Given the description of an element on the screen output the (x, y) to click on. 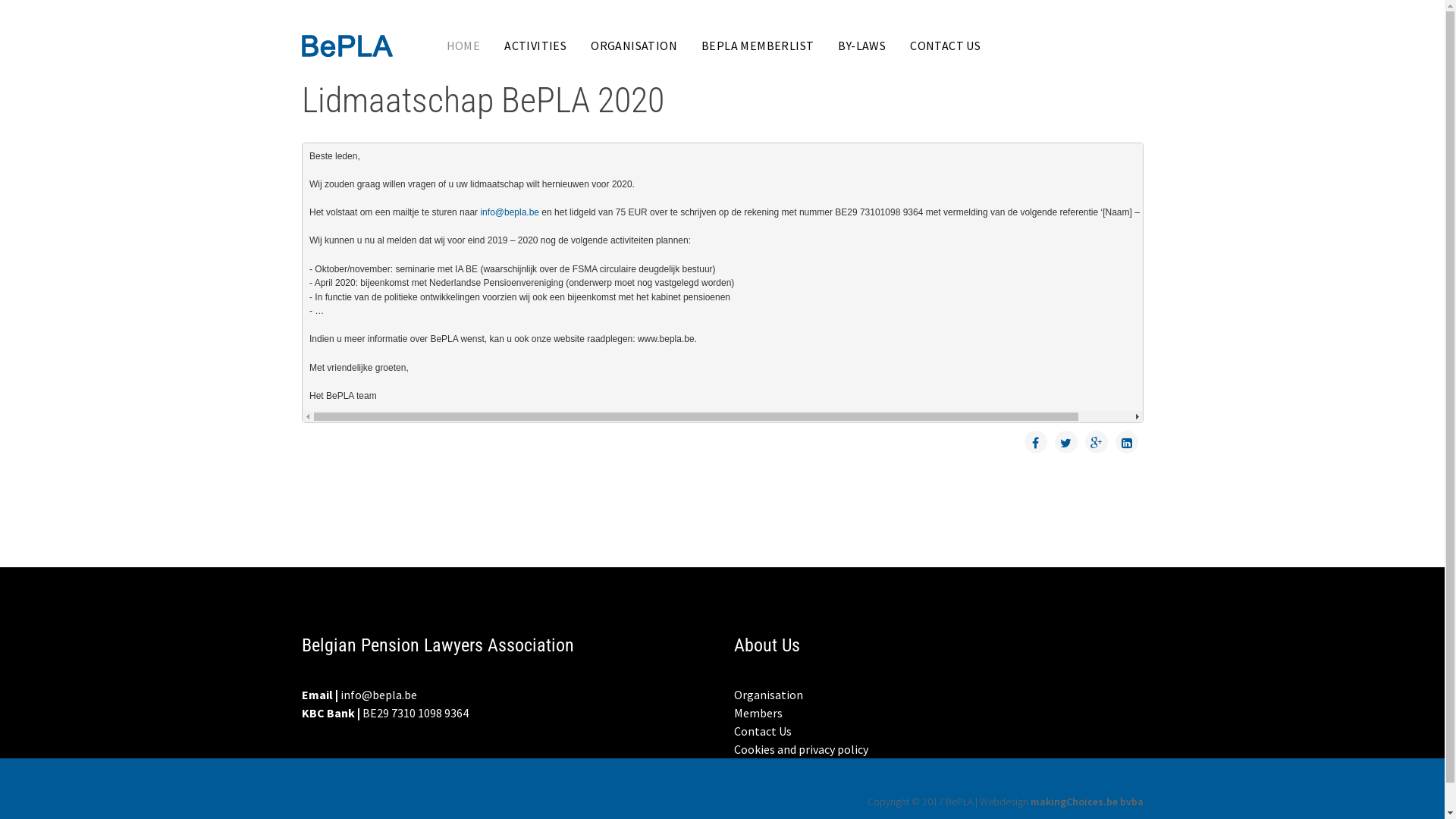
info@bepla.be Element type: text (377, 694)
Share On Linkedin Element type: hover (1125, 441)
Members Element type: text (938, 712)
ORGANISATION Element type: text (633, 45)
Share On Facebook Element type: hover (1034, 441)
Contact Us Element type: text (938, 730)
makingChoices.be bvba Element type: text (1085, 801)
info@bepla.be Element type: text (509, 212)
Share On Twitter Element type: hover (1065, 441)
BEPLA MEMBERLIST Element type: text (757, 45)
Cookies and privacy policy Element type: text (938, 749)
ACTIVITIES Element type: text (535, 45)
BY-LAWS Element type: text (861, 45)
Organisation Element type: text (938, 694)
CONTACT US Element type: text (944, 45)
Share On Google Plus Element type: hover (1095, 441)
HOME Element type: text (462, 45)
